Given the description of an element on the screen output the (x, y) to click on. 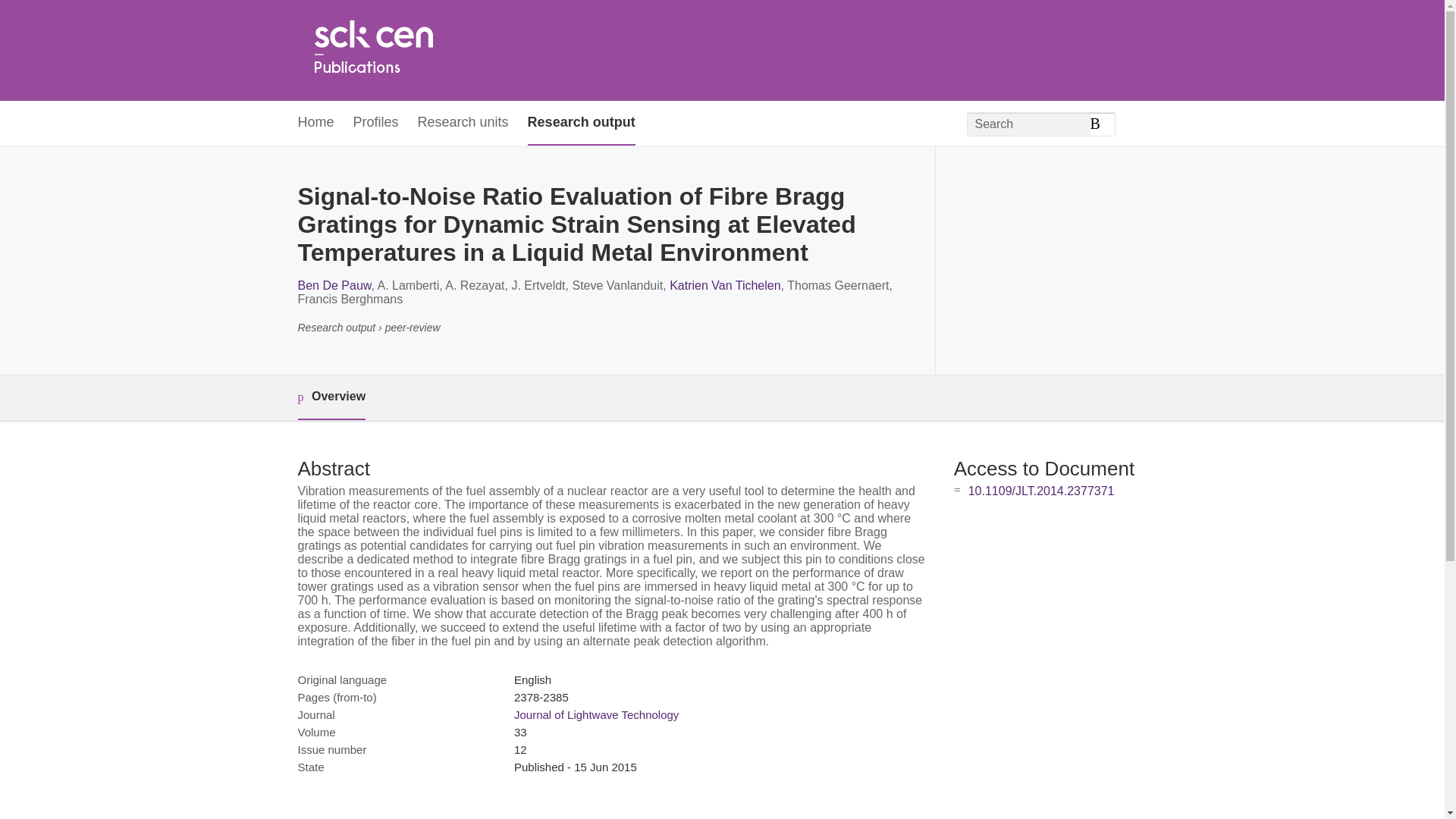
Overview (331, 397)
Research output (580, 122)
Research units (462, 122)
Home (372, 50)
Ben De Pauw (334, 285)
Journal of Lightwave Technology (595, 714)
Home (315, 122)
Profiles (375, 122)
Katrien Van Tichelen (724, 285)
